Given the description of an element on the screen output the (x, y) to click on. 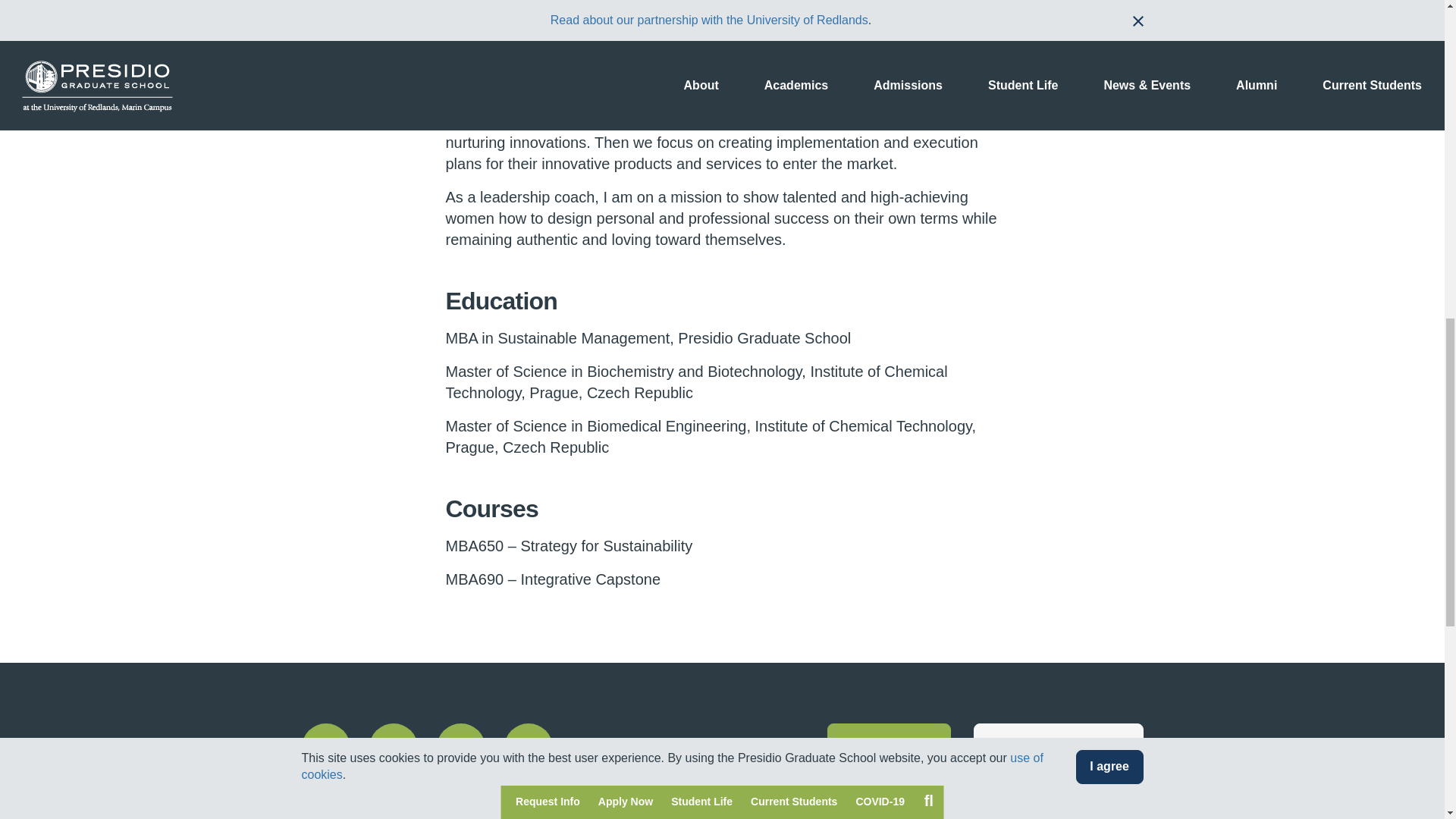
Newsletter (888, 747)
Follow us on Twitter (527, 747)
Follow us on Instagram (392, 747)
Support Presidio (1058, 747)
Like us on Facebook (325, 747)
Follow us on LinkedIn (460, 747)
